Given the description of an element on the screen output the (x, y) to click on. 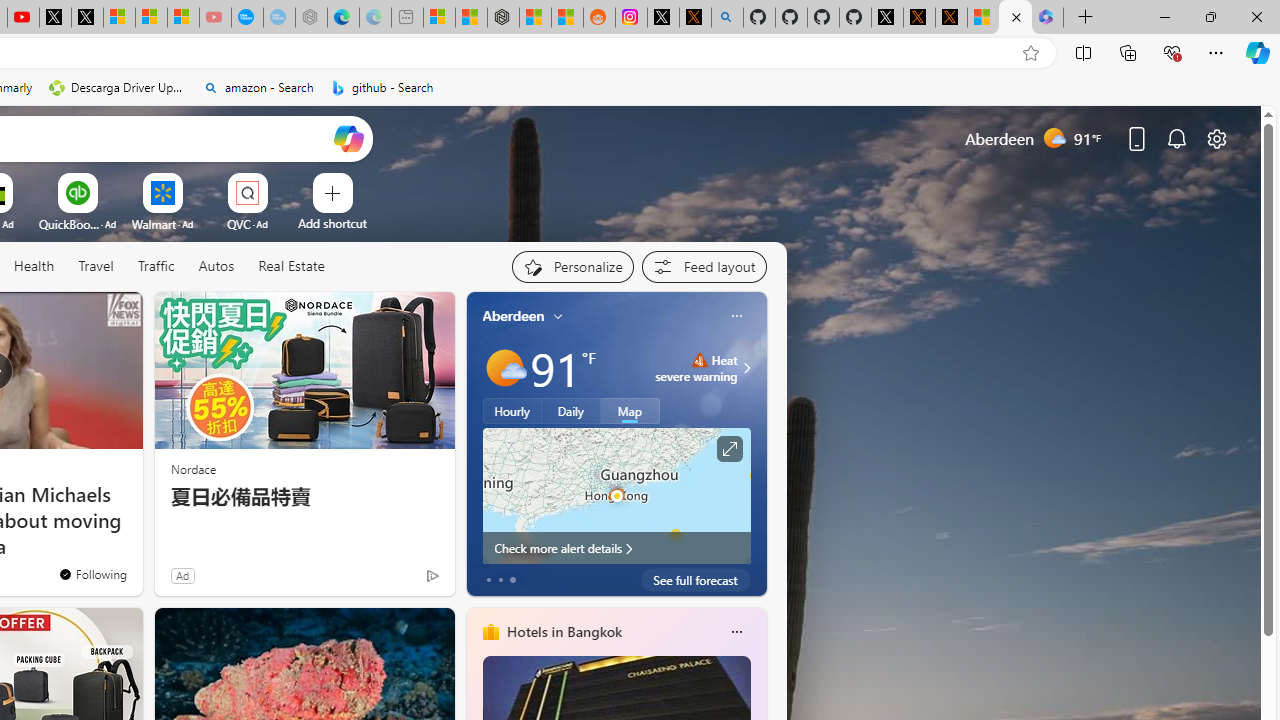
Travel (95, 267)
